Given the description of an element on the screen output the (x, y) to click on. 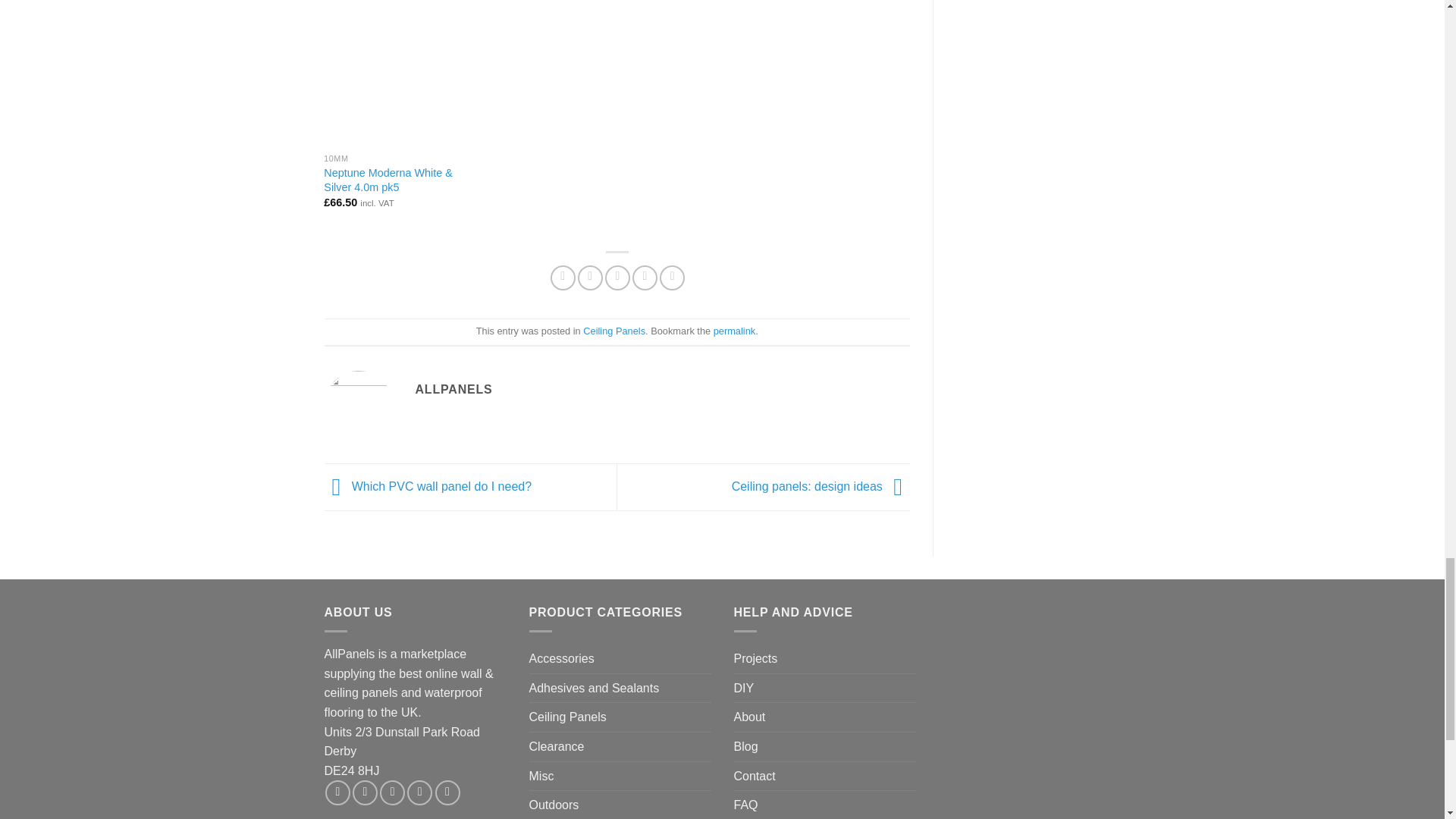
Share on Twitter (590, 277)
Pin on Pinterest (644, 277)
Share on Facebook (562, 277)
Email to a Friend (617, 277)
